Given the description of an element on the screen output the (x, y) to click on. 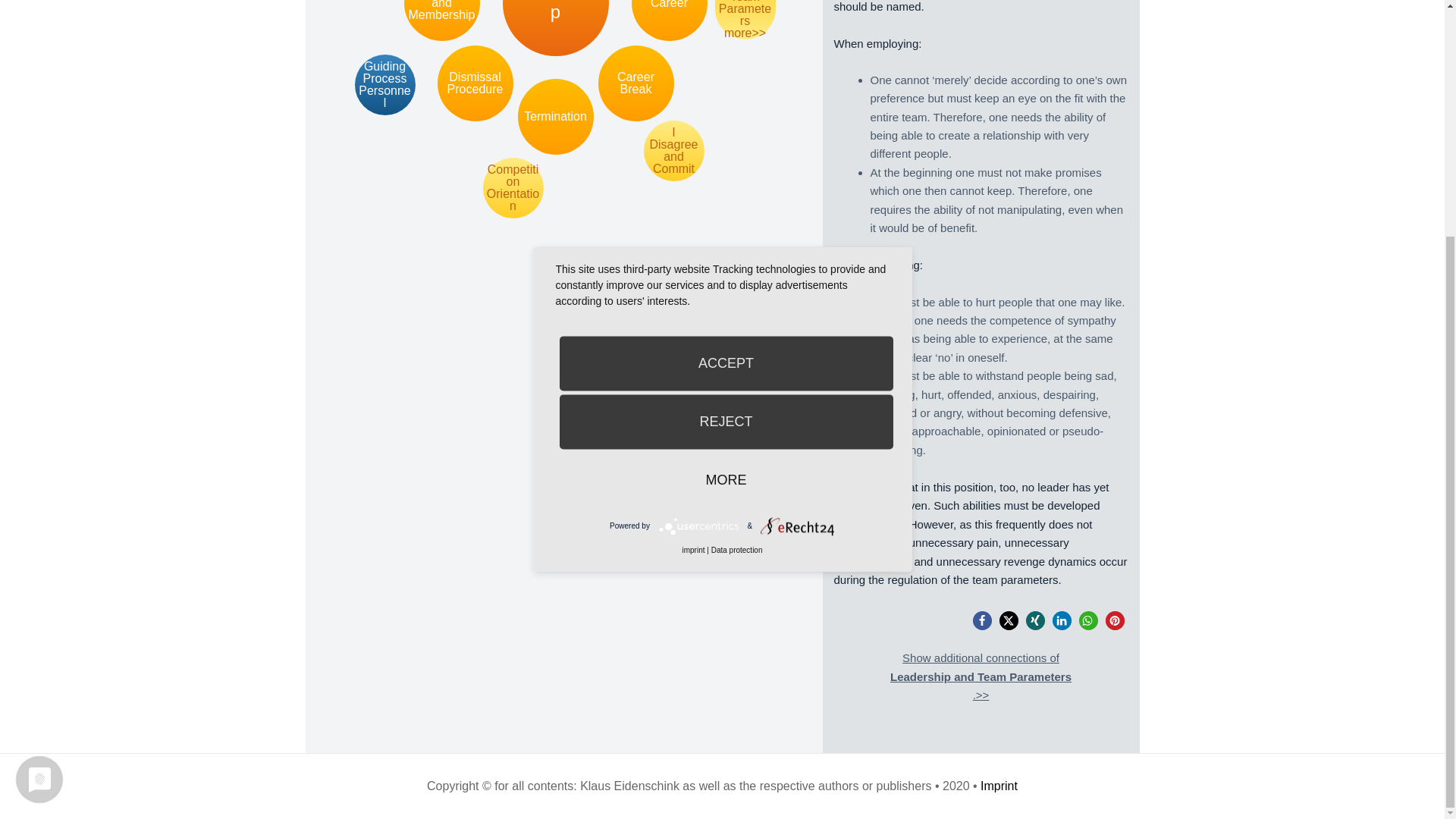
Membership (555, 28)
Guiding Process Personnel (384, 84)
Career Break (634, 83)
Competition Orientation (512, 188)
ACCEPT (726, 40)
Imprint (998, 786)
Career (668, 20)
I Disagree and Commit (673, 150)
